Given the description of an element on the screen output the (x, y) to click on. 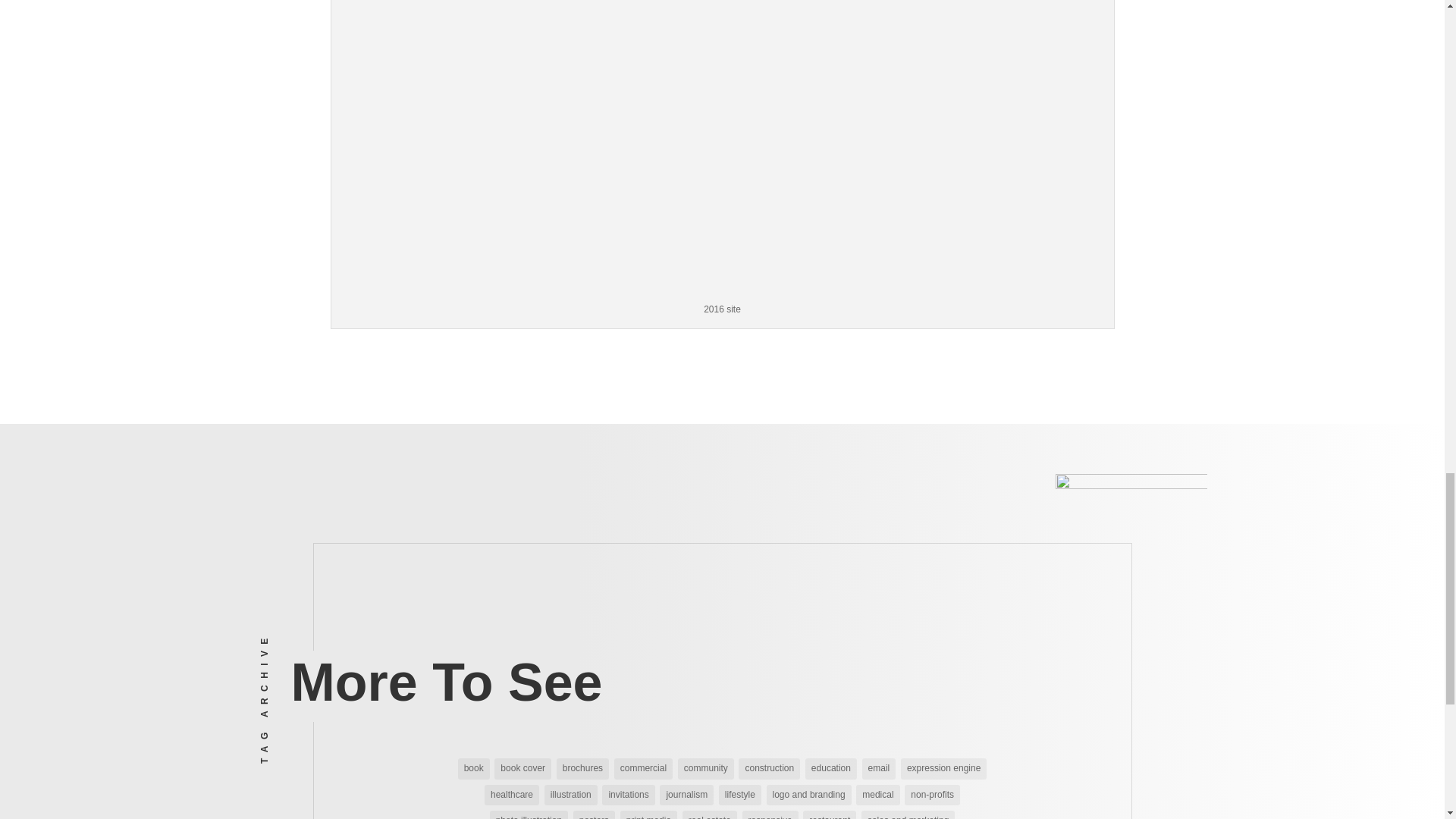
restaurant (829, 814)
lifestyle (740, 794)
non-profits (931, 794)
print media (648, 814)
education (831, 768)
brochures (582, 768)
responsive (769, 814)
sales and marketing (908, 814)
medical (877, 794)
invitations (627, 794)
logo and branding (807, 794)
photo illustration (528, 814)
posters (593, 814)
illustration (570, 794)
journalism (686, 794)
